Given the description of an element on the screen output the (x, y) to click on. 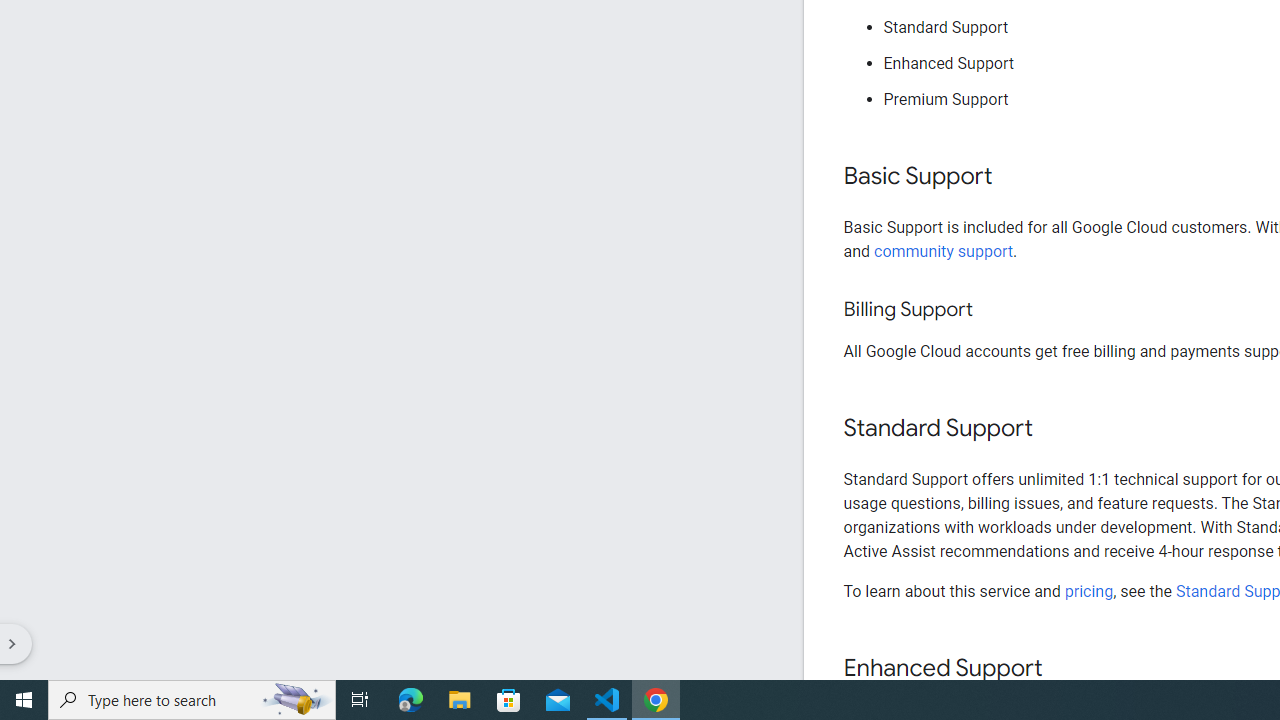
community support (943, 250)
Copy link to this section: Enhanced Support (1061, 668)
pricing (1088, 591)
Copy link to this section: Billing Support (991, 310)
Copy link to this section: Basic Support (1012, 177)
Copy link to this section: Standard Support (1052, 429)
